Given the description of an element on the screen output the (x, y) to click on. 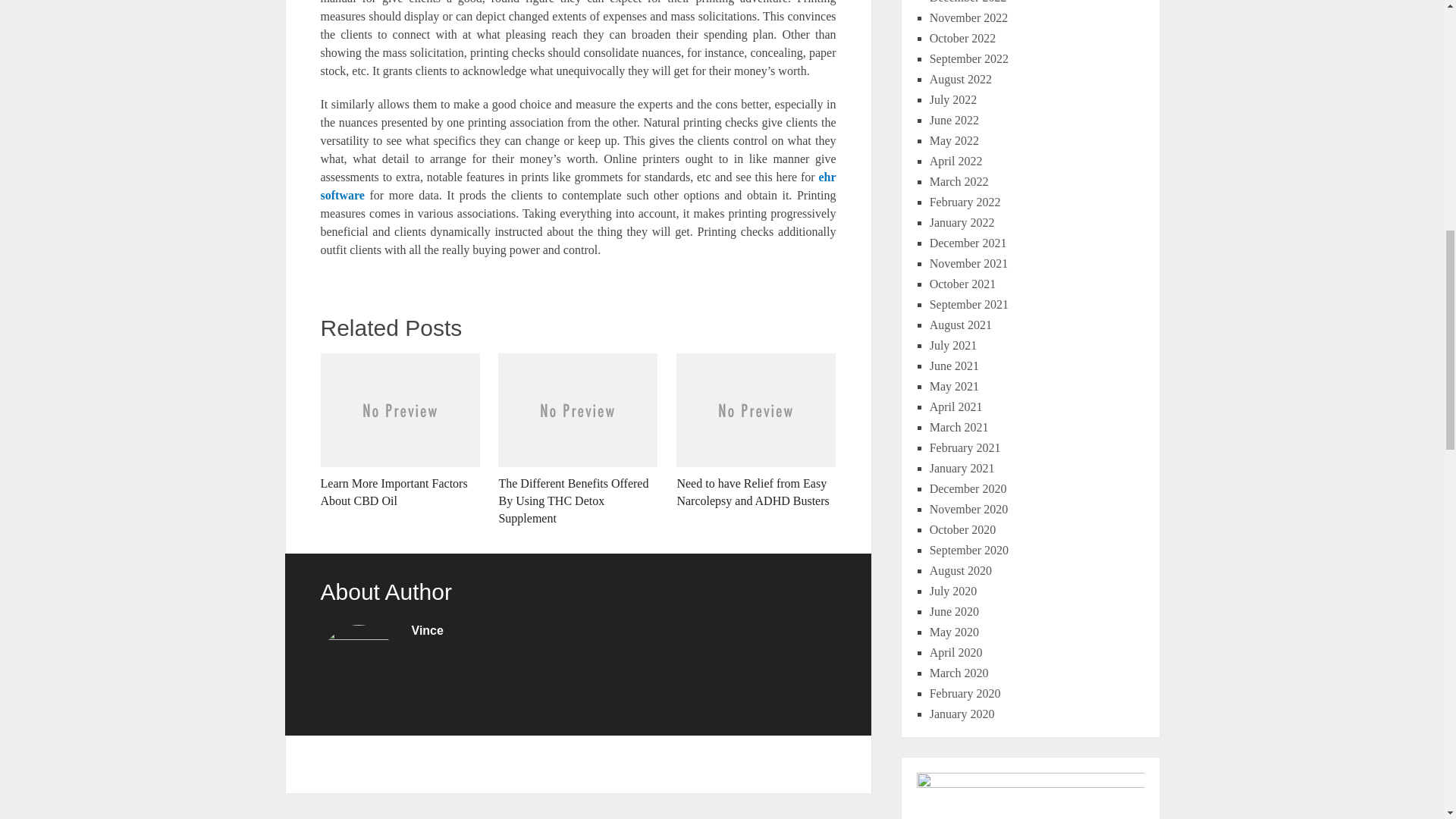
The Different Benefits Offered By Using THC Detox Supplement (577, 439)
Learn More Important Factors About CBD Oil (399, 430)
Need to have Relief from Easy Narcolepsy and ADHD Busters (756, 430)
Learn More Important Factors About CBD Oil (399, 430)
The Different Benefits Offered By Using THC Detox Supplement (577, 439)
ehr software (577, 185)
Need to have Relief from Easy Narcolepsy and ADHD Busters (756, 430)
